Given the description of an element on the screen output the (x, y) to click on. 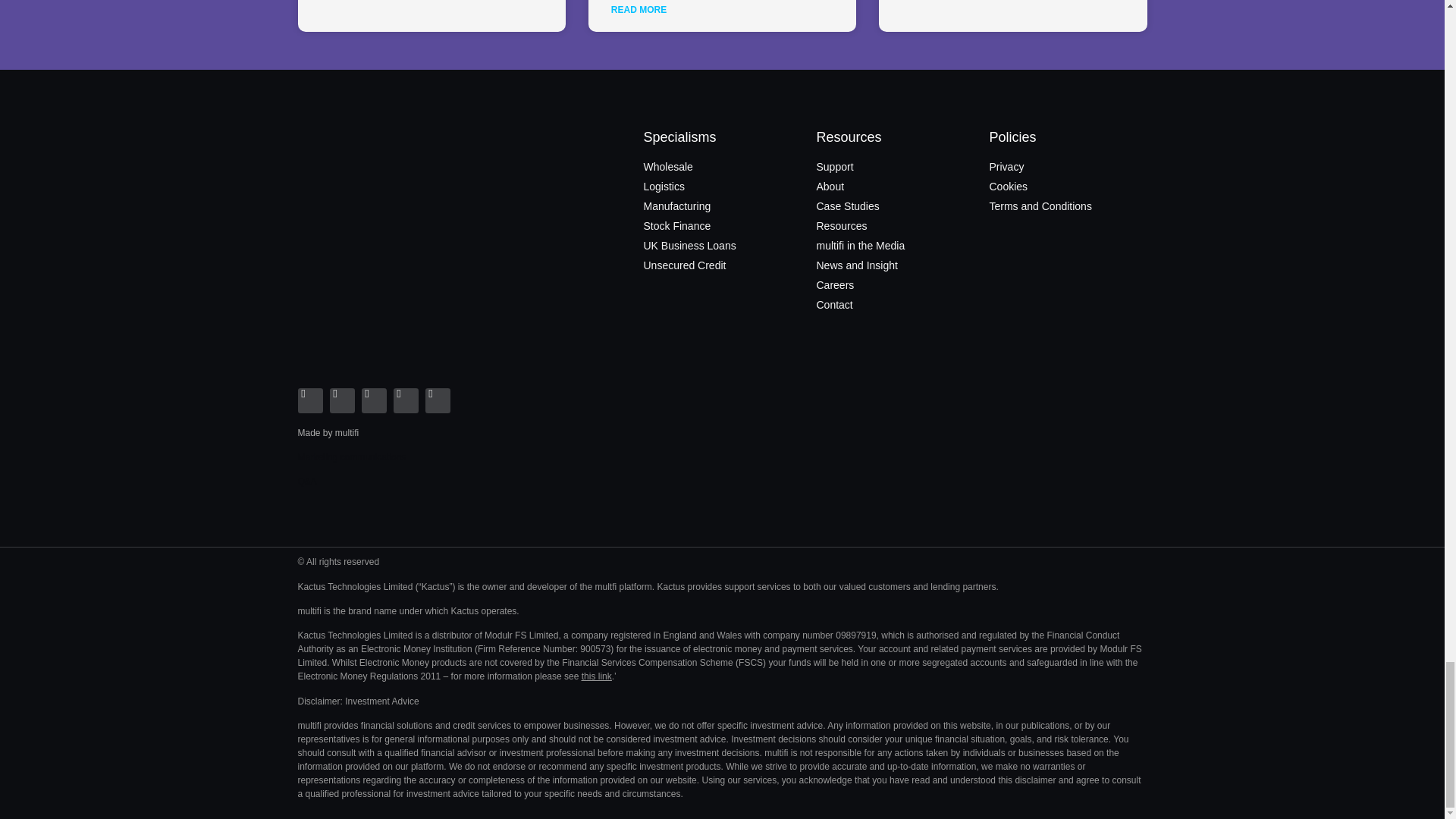
READ MORE (638, 9)
